Given the description of an element on the screen output the (x, y) to click on. 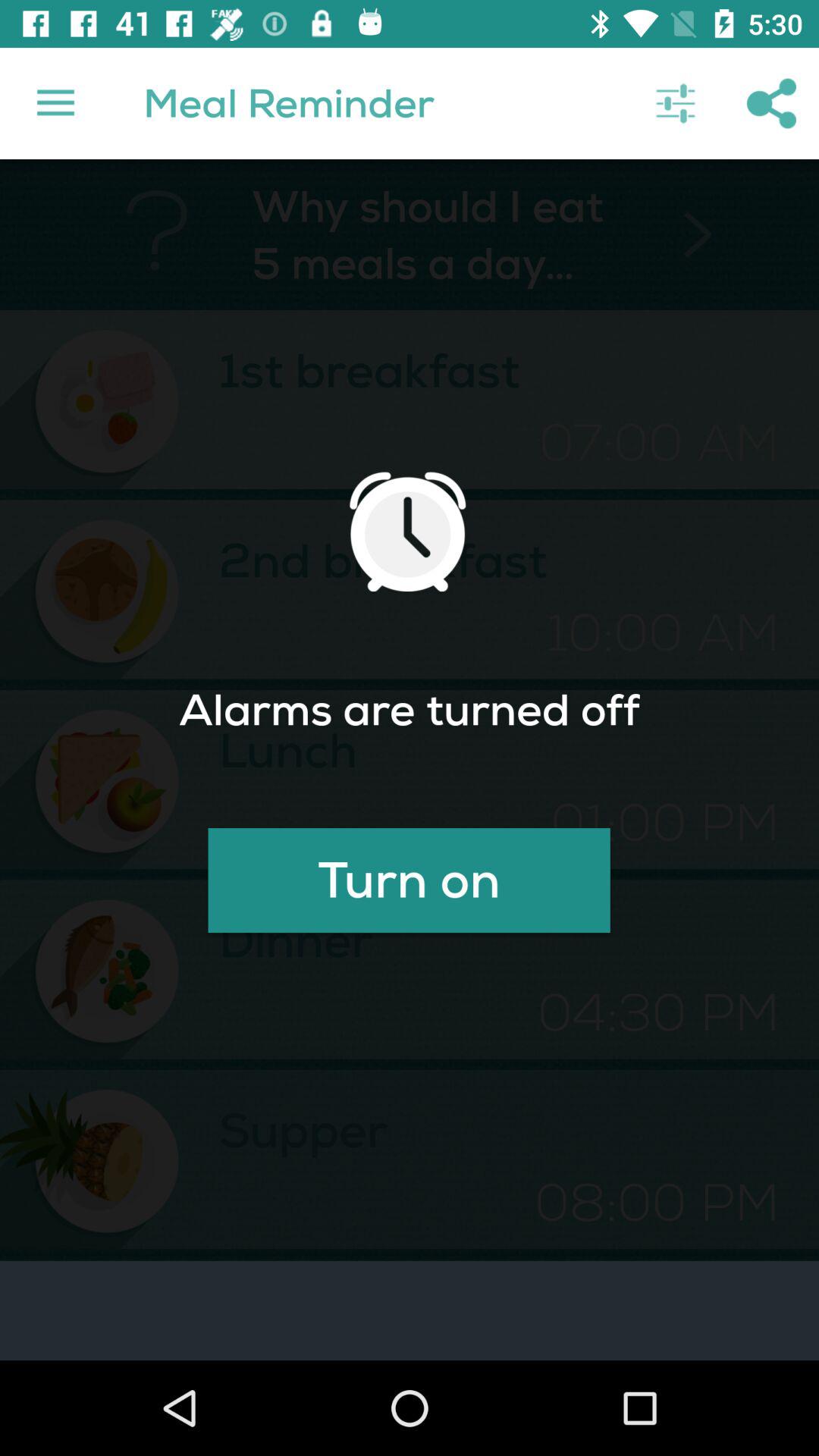
click the icon below lunch icon (409, 880)
